Given the description of an element on the screen output the (x, y) to click on. 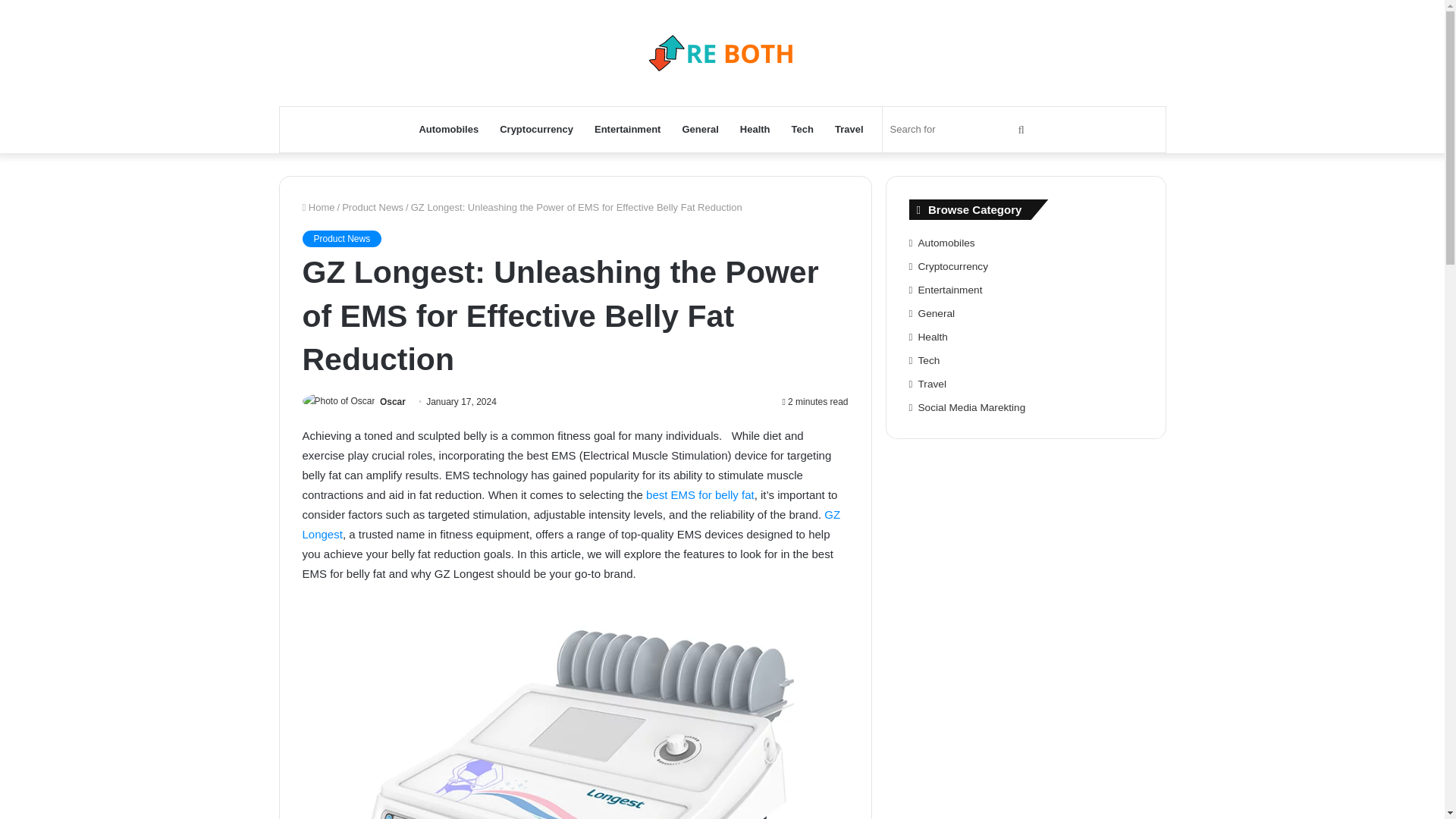
GZ Longest (570, 523)
Cryptocurrency (536, 129)
Home (317, 206)
Entertainment (627, 129)
Reboth (721, 53)
Product News (341, 238)
Product News (372, 206)
General (700, 129)
Tech (802, 129)
Oscar (393, 401)
